Given the description of an element on the screen output the (x, y) to click on. 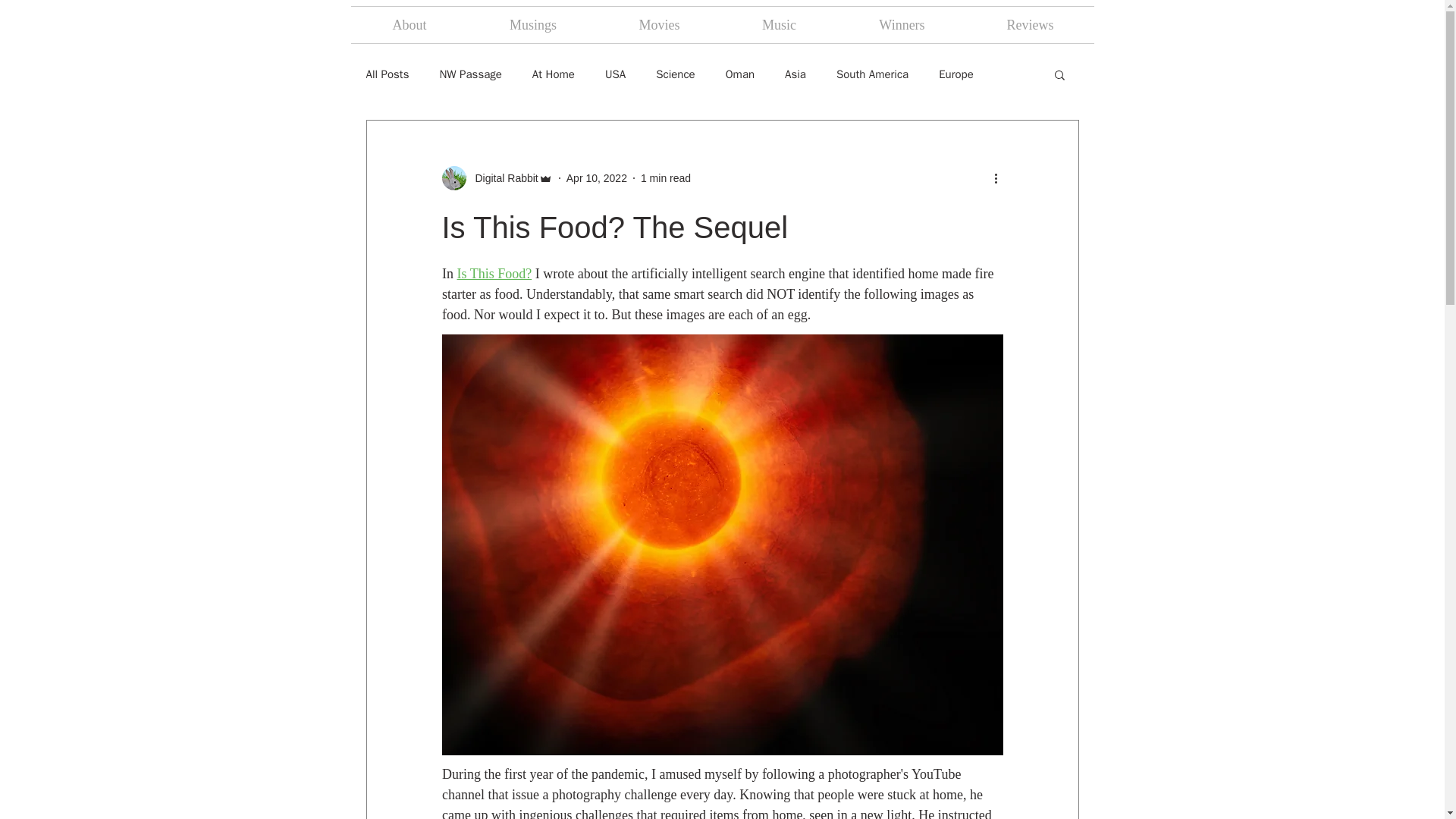
Digital Rabbit (496, 178)
About (408, 24)
Reviews (1029, 24)
Science (675, 73)
Apr 10, 2022 (596, 177)
NW Passage (469, 73)
Europe (956, 73)
Is This Food? (494, 273)
Digital Rabbit (501, 177)
USA (615, 73)
At Home (553, 73)
Winners (901, 24)
Oman (739, 73)
South America (871, 73)
All Posts (387, 73)
